Given the description of an element on the screen output the (x, y) to click on. 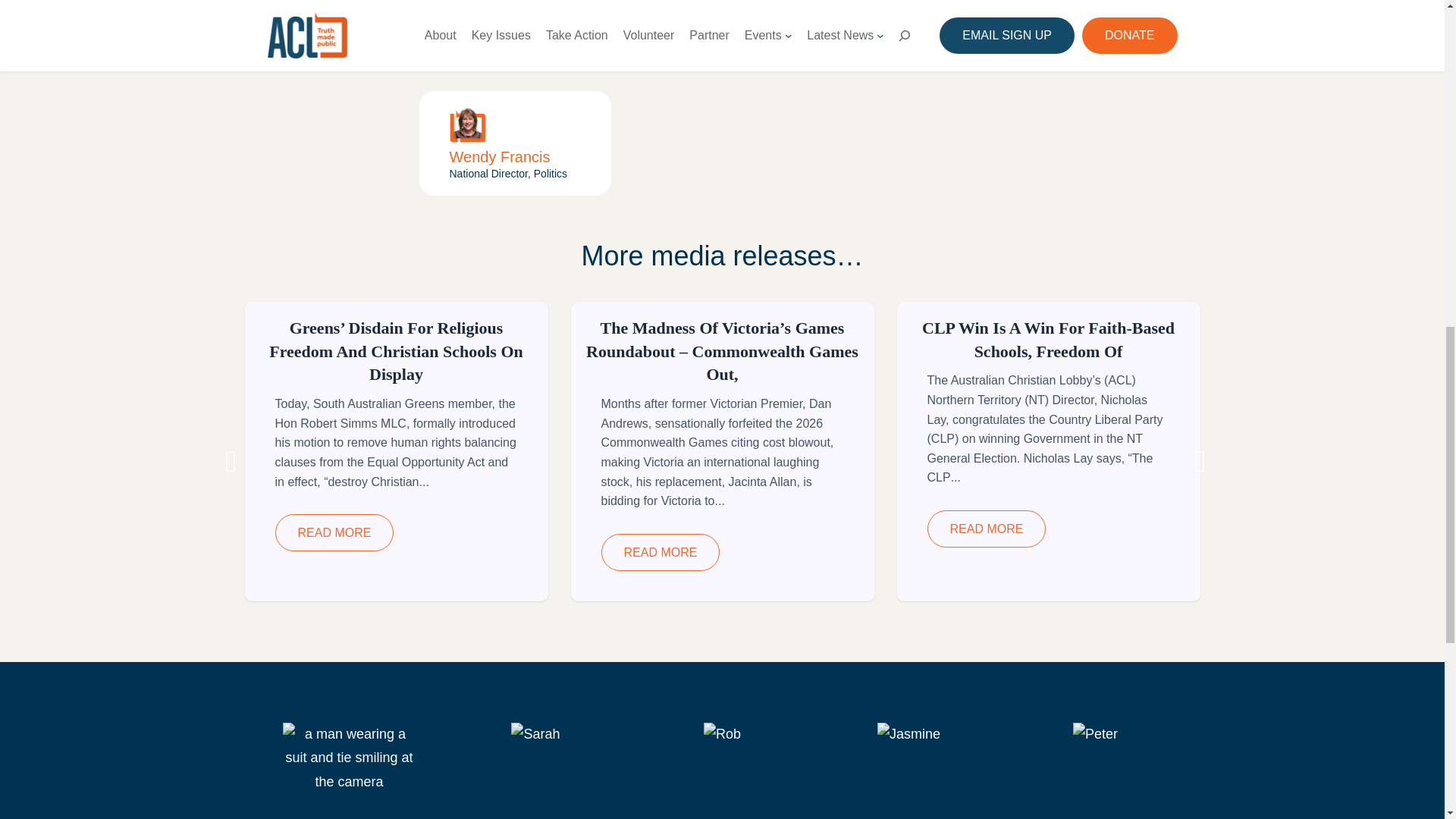
CLP win is a win for faith-based schools, freedom of (1047, 339)
Wendy Francis (499, 156)
READ MORE (659, 551)
CLP Win Is A Win For Faith-Based Schools, Freedom Of (1047, 339)
READ MORE (334, 532)
READ MORE (985, 528)
